Given the description of an element on the screen output the (x, y) to click on. 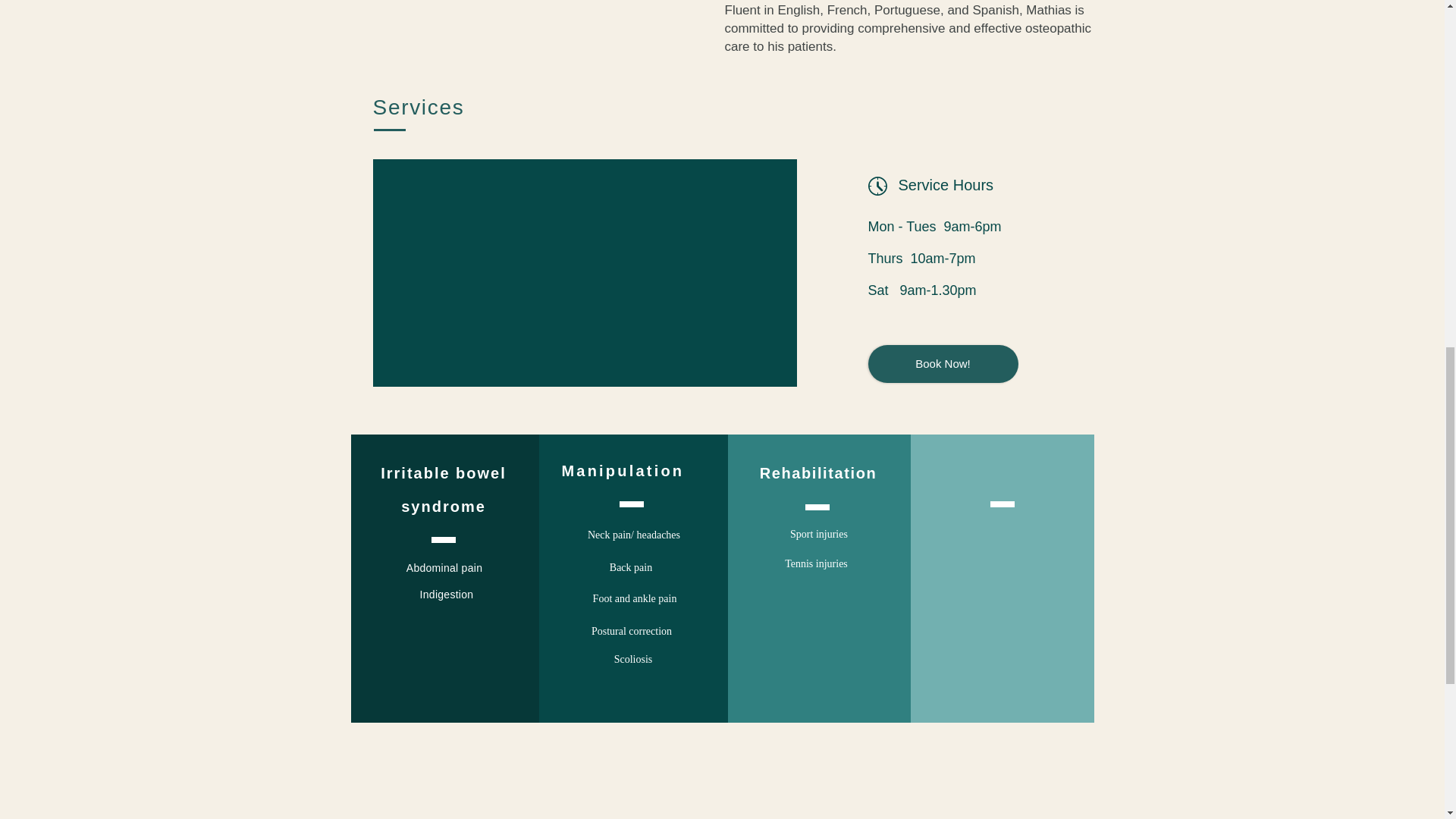
Book Now! (942, 363)
